Given the description of an element on the screen output the (x, y) to click on. 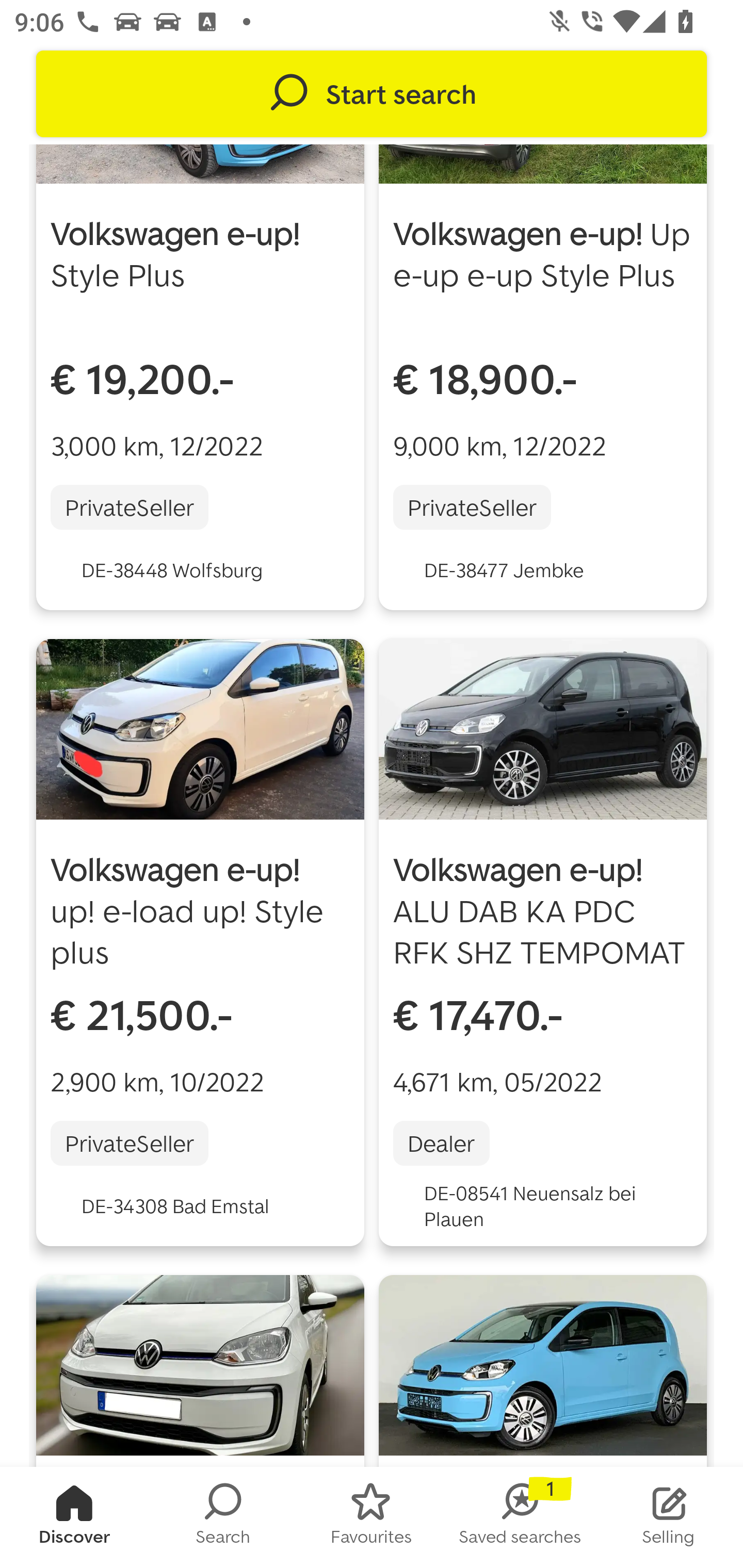
Start search (371, 93)
HOMESCREEN Discover (74, 1517)
SEARCH Search (222, 1517)
FAVORITES Favourites (371, 1517)
SAVED_SEARCHES Saved searches 1 (519, 1517)
STOCK_LIST Selling (668, 1517)
